Given the description of an element on the screen output the (x, y) to click on. 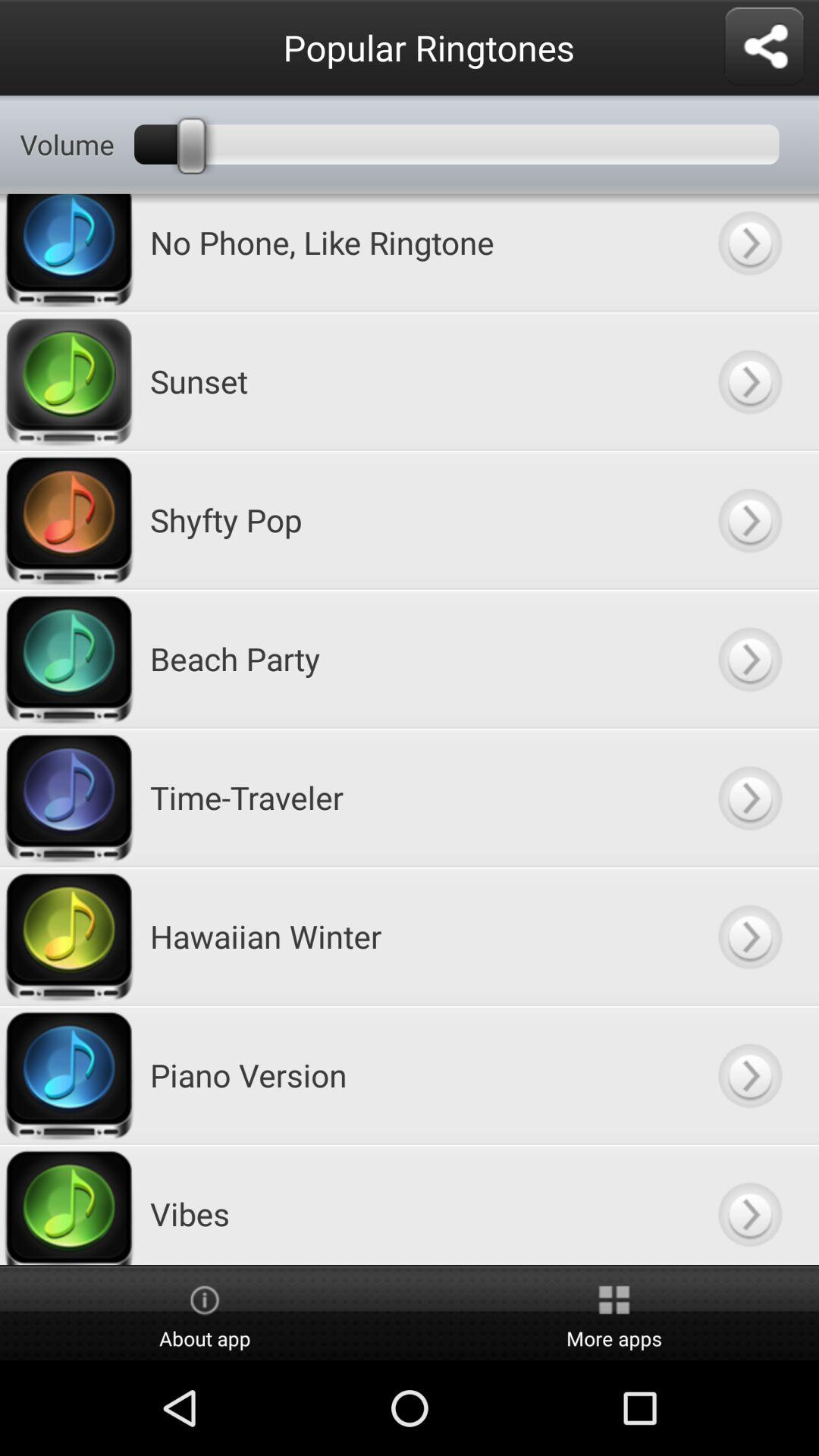
show more information (749, 797)
